Given the description of an element on the screen output the (x, y) to click on. 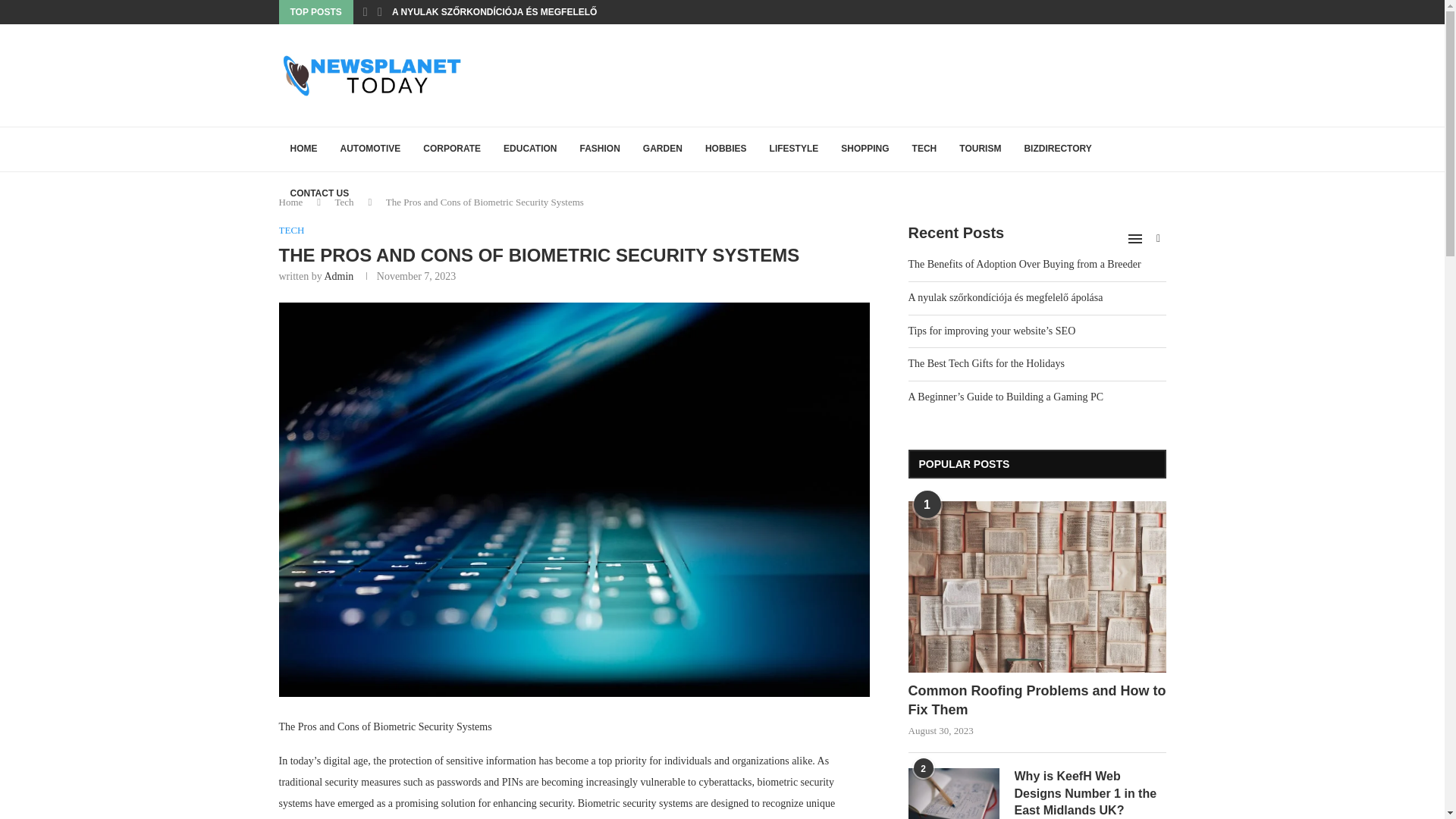
TECH (925, 148)
TOURISM (979, 148)
CONTACT US (320, 194)
HOME (304, 148)
AUTOMOTIVE (370, 148)
CORPORATE (452, 148)
HOBBIES (726, 148)
FASHION (600, 148)
GARDEN (662, 148)
